Given the description of an element on the screen output the (x, y) to click on. 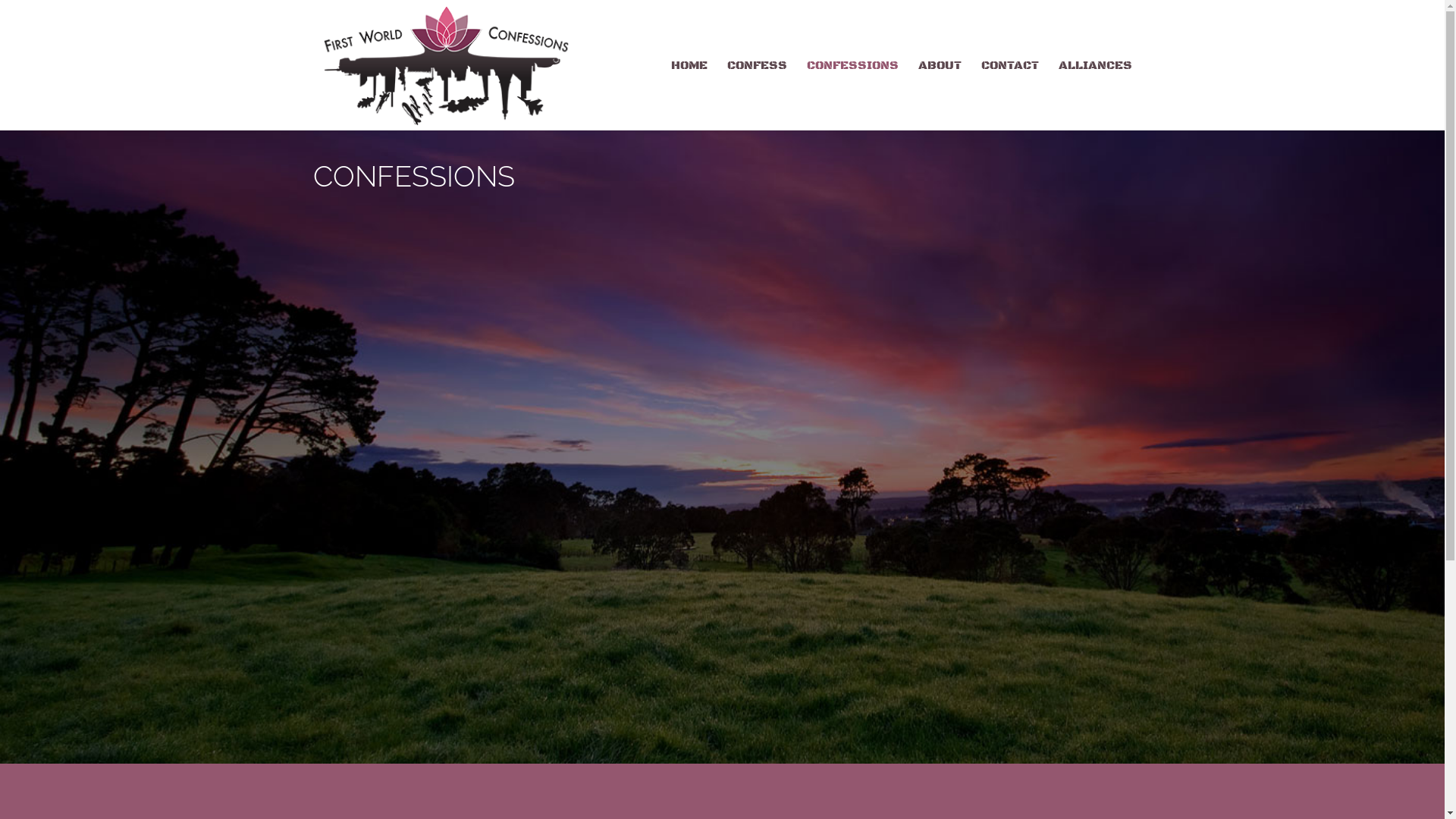
CONTACT Element type: text (1009, 94)
citizen 9 Element type: hover (1009, 663)
citizen 4 Element type: hover (433, 485)
Citizen 5 Element type: hover (721, 485)
CONFESS Element type: text (756, 94)
ALLIANCES Element type: text (1095, 94)
CONFESSIONS Element type: text (852, 94)
citizen 8 Element type: hover (721, 663)
Citizen 6 Element type: hover (1009, 485)
HOME Element type: text (688, 94)
Citizen 1 Element type: hover (433, 307)
Citizen 3 Element type: hover (1009, 307)
Citizen 2 Element type: hover (721, 307)
Citizen 7 Element type: hover (433, 663)
ABOUT Element type: text (938, 94)
